Given the description of an element on the screen output the (x, y) to click on. 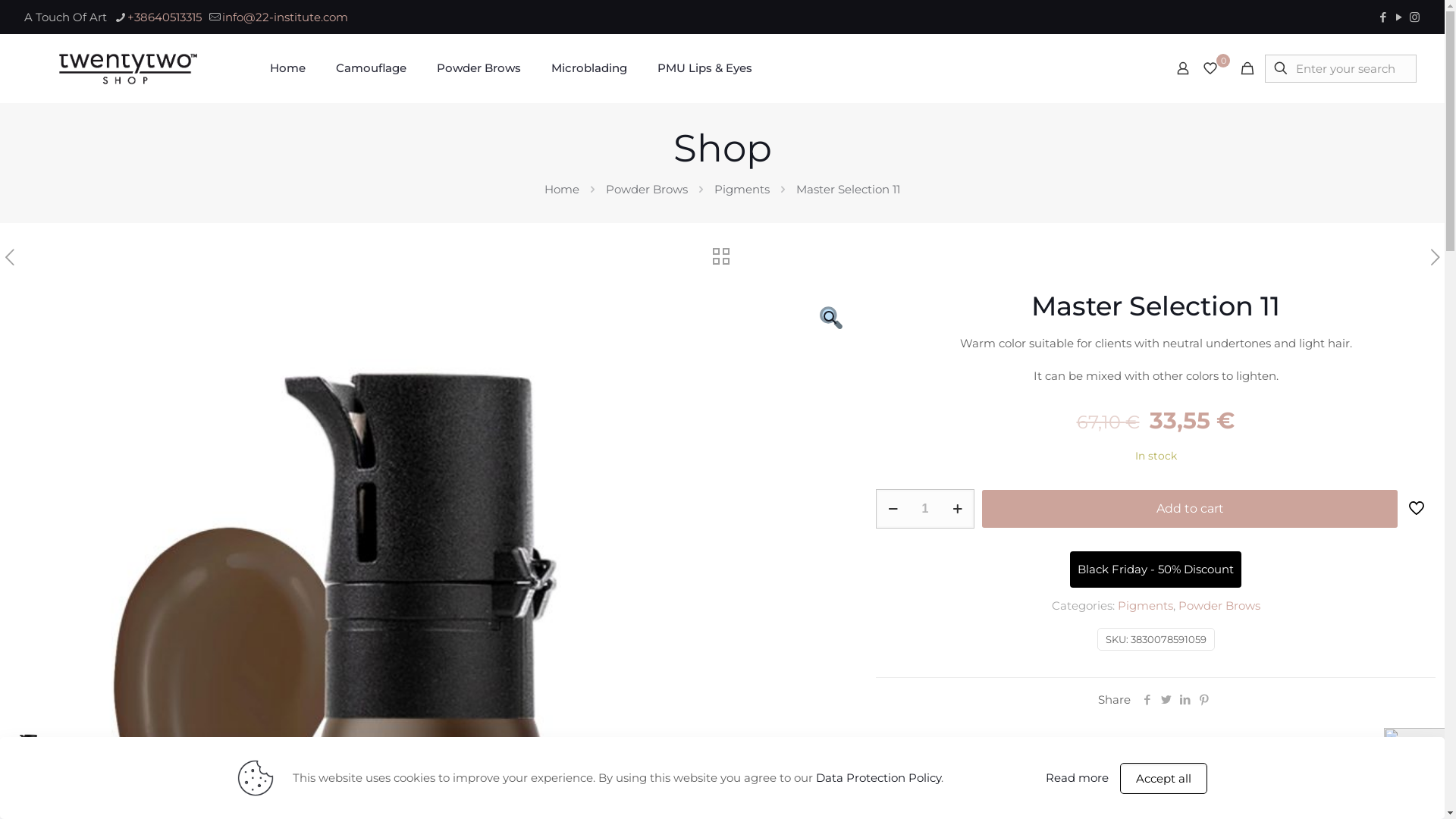
Powder Brows Element type: text (646, 189)
YouTube Element type: hover (1398, 16)
info@22-institute.com Element type: text (285, 16)
Read more Element type: text (1076, 777)
Powder Brows Element type: text (478, 68)
0 Element type: text (1215, 68)
PMU Lips & Eyes Element type: text (704, 68)
Add to cart Element type: text (1189, 508)
Pigments Element type: text (741, 189)
22 Institute Shop Element type: hover (128, 68)
Powder Brows Element type: text (1219, 605)
Facebook Element type: hover (1382, 16)
Instagram Element type: hover (1414, 16)
Data Protection Policy Element type: text (878, 777)
Home Element type: text (561, 189)
+38640513315 Element type: text (164, 16)
Pigments Element type: text (1145, 605)
Camouflage Element type: text (370, 68)
Home Element type: text (287, 68)
Accept all Element type: text (1163, 777)
Microblading Element type: text (589, 68)
